Given the description of an element on the screen output the (x, y) to click on. 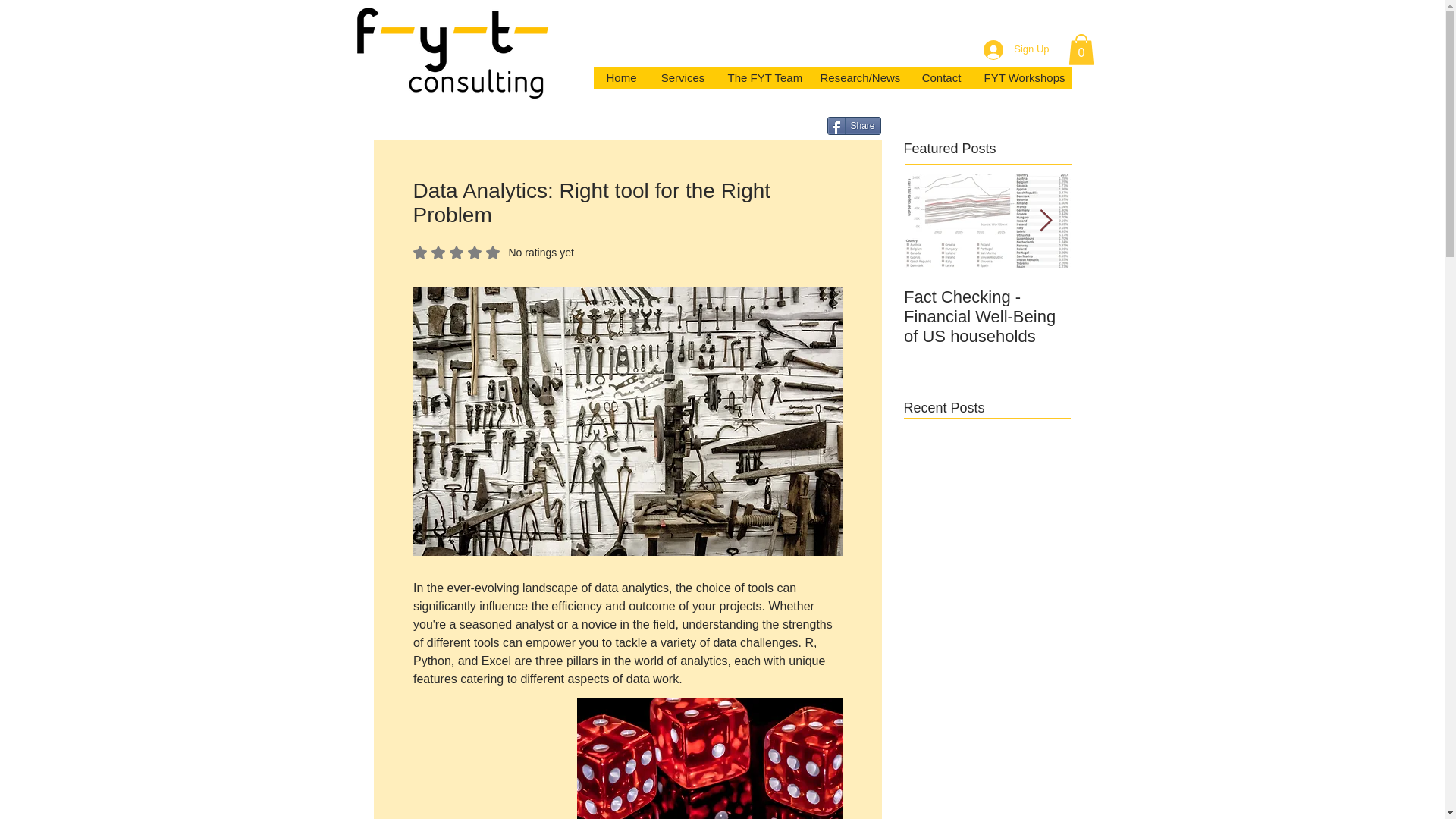
Contact (941, 82)
Share (853, 126)
Twitter Tweet (794, 127)
Services (682, 82)
Singapore in Numbers - Disposable Income (1153, 306)
Fact Checking - Financial Well-Being of US households (987, 316)
The FYT Team (492, 252)
Home (762, 82)
Share (620, 82)
FYT Workshops (853, 126)
Sign Up (1021, 82)
